Given the description of an element on the screen output the (x, y) to click on. 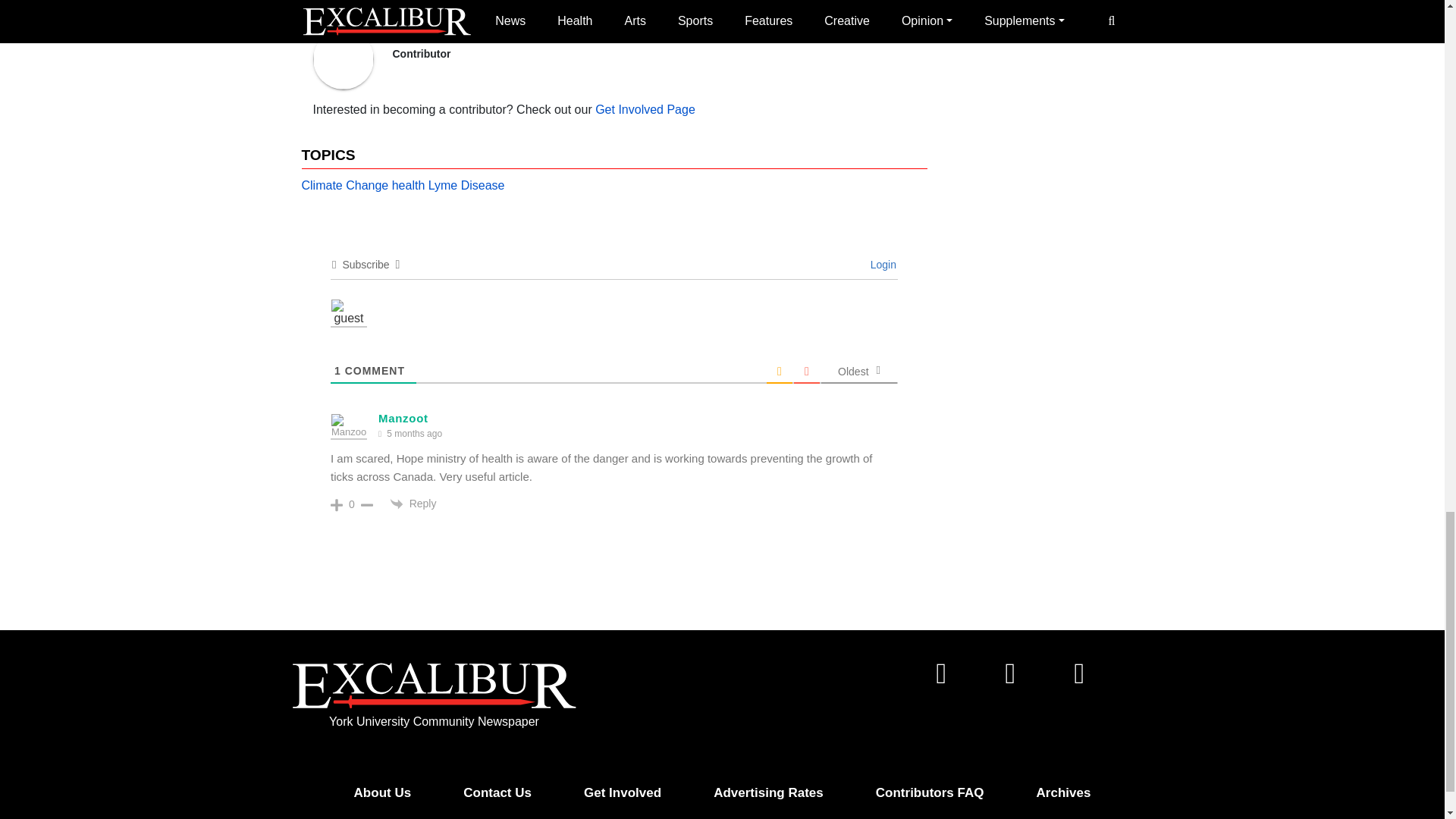
Get Involved Page (645, 109)
Lyme Disease (466, 185)
Login (881, 264)
Hudaifa Ahmad (447, 34)
Posts by Hudaifa Ahmad (447, 34)
Climate Change (344, 185)
health (408, 185)
